Given the description of an element on the screen output the (x, y) to click on. 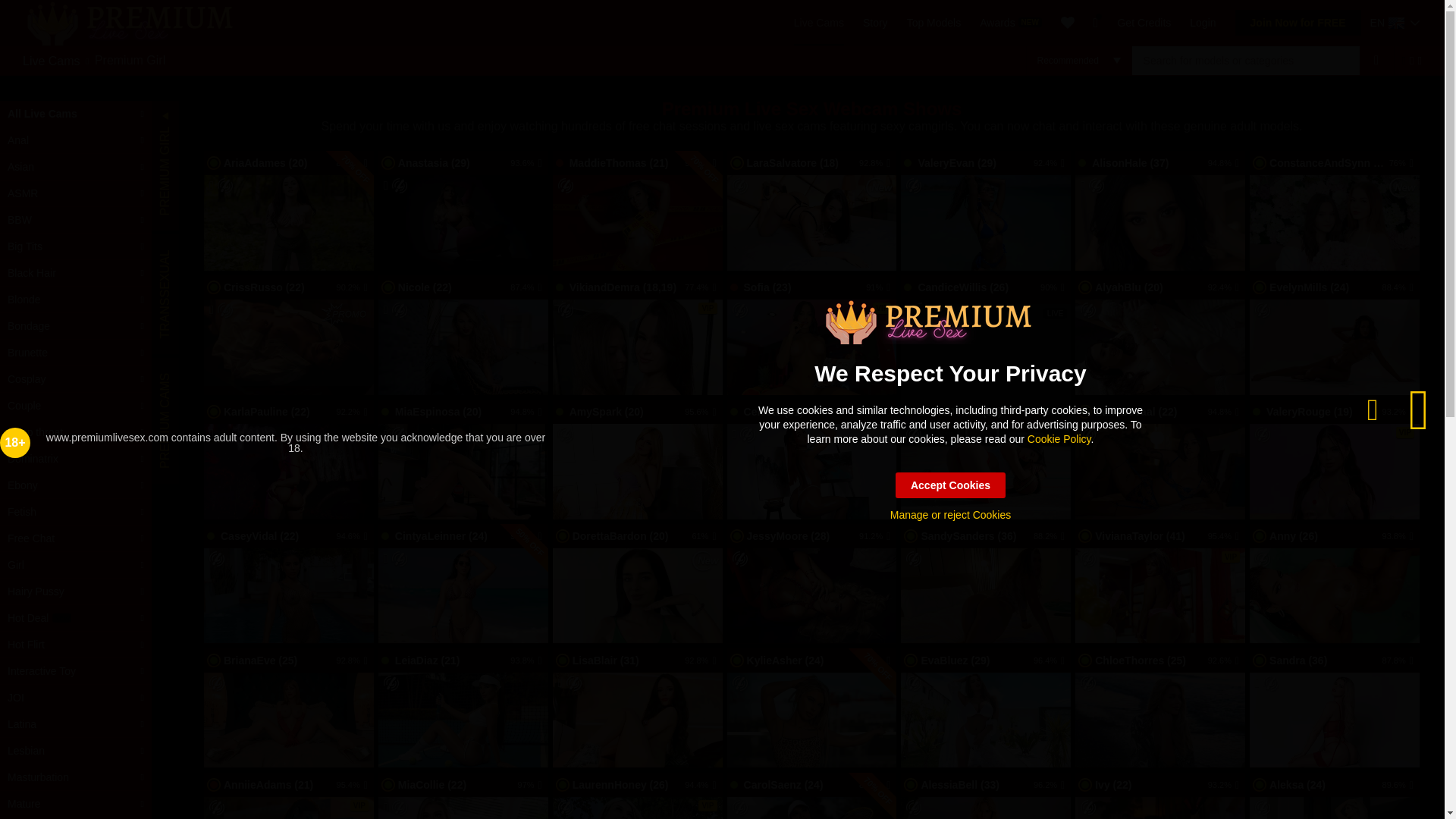
Accept Cookies (950, 484)
Manage or reject Cookies (950, 514)
Messages (1096, 22)
Get Credits (1143, 22)
Live Cams (818, 22)
Mobile Live (1257, 683)
Mobile Live (734, 434)
Awards NEW (1010, 22)
Live Cams (51, 60)
Mobile Live (211, 185)
Mobile Live (1082, 185)
Story (875, 22)
Login (1202, 22)
Mobile Live (211, 309)
Mobile Live (386, 807)
